Given the description of an element on the screen output the (x, y) to click on. 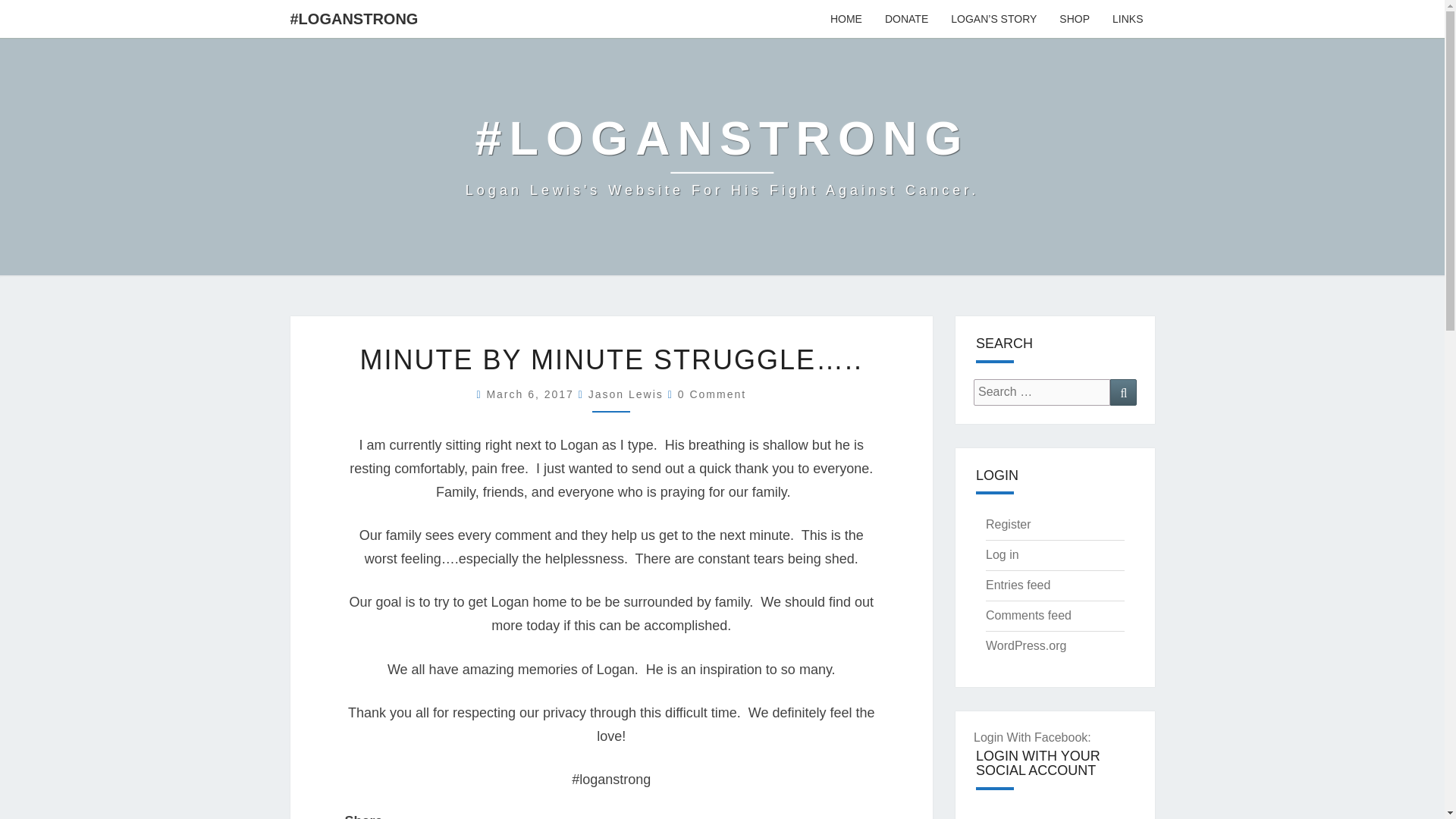
Jason Lewis (625, 394)
March 6, 2017 (532, 394)
Entries feed (1017, 584)
View all posts by Jason Lewis (625, 394)
Links (1127, 18)
0 Comment (711, 394)
HOME (845, 18)
Logan's Story (993, 18)
DONATE (906, 18)
Comments feed (1028, 615)
